Given the description of an element on the screen output the (x, y) to click on. 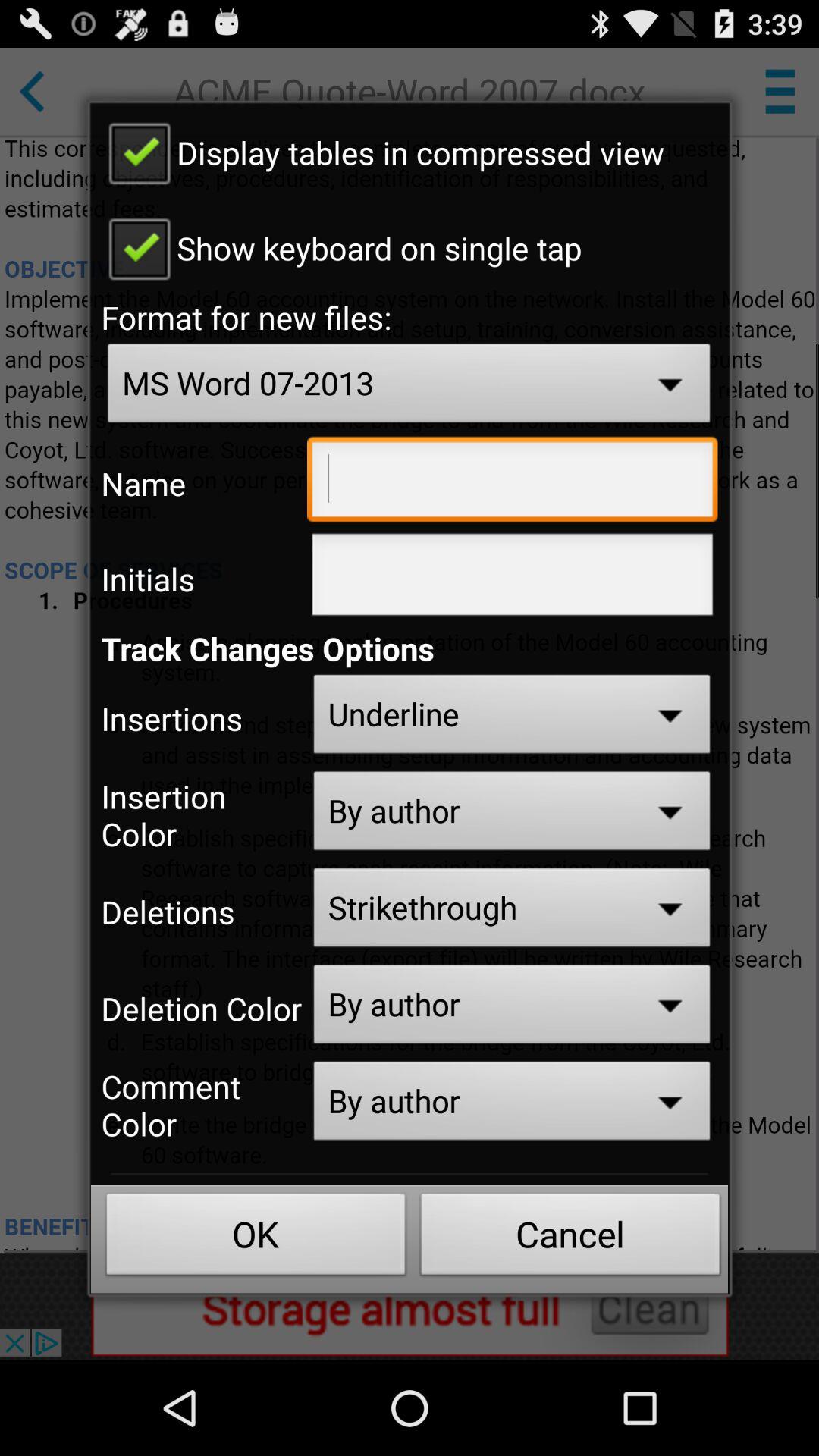
input name (512, 483)
